Given the description of an element on the screen output the (x, y) to click on. 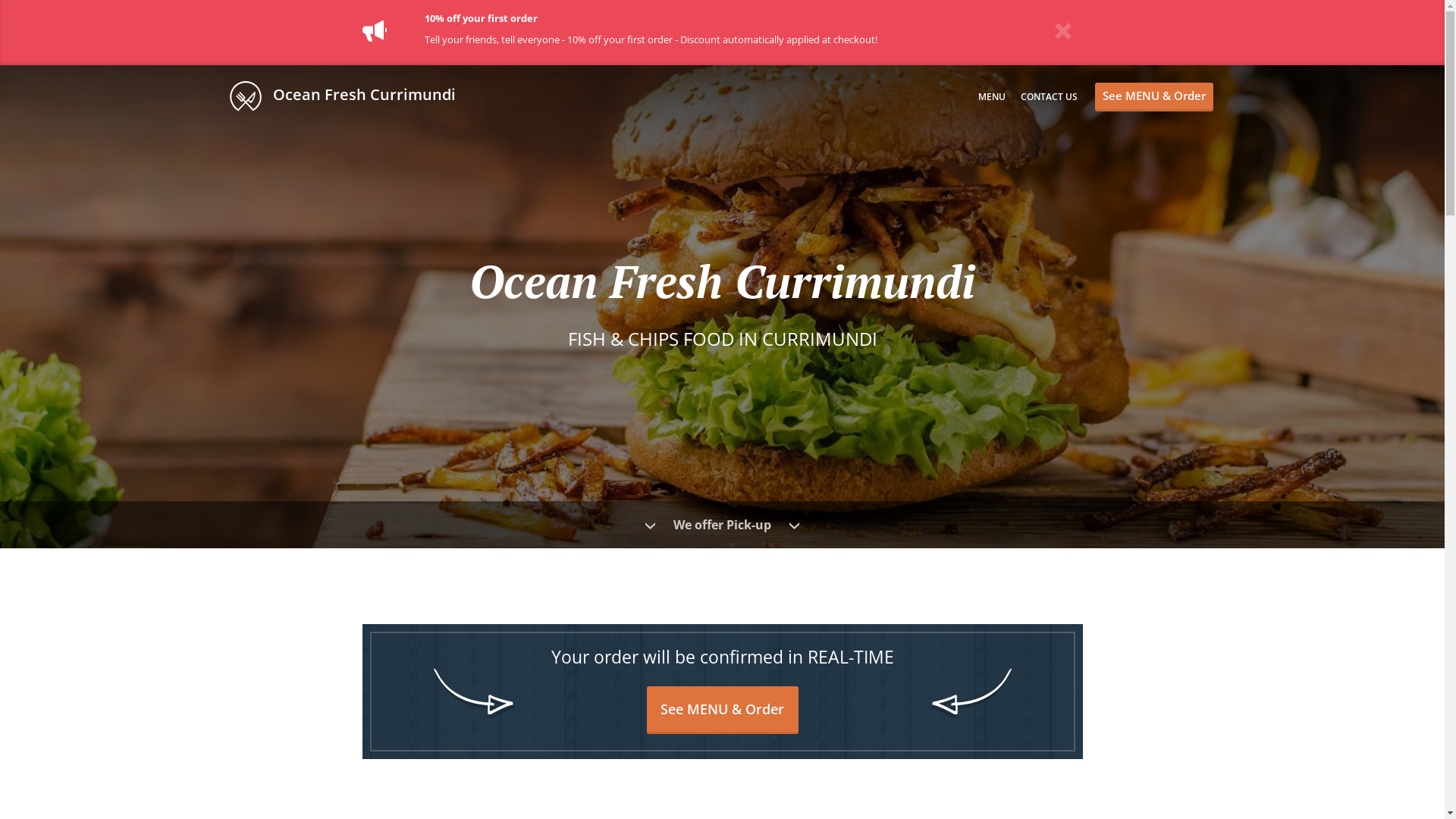
MENU Element type: text (991, 96)
CONTACT US Element type: text (1048, 96)
 Ocean Fresh Currimundi Element type: text (349, 95)
